Given the description of an element on the screen output the (x, y) to click on. 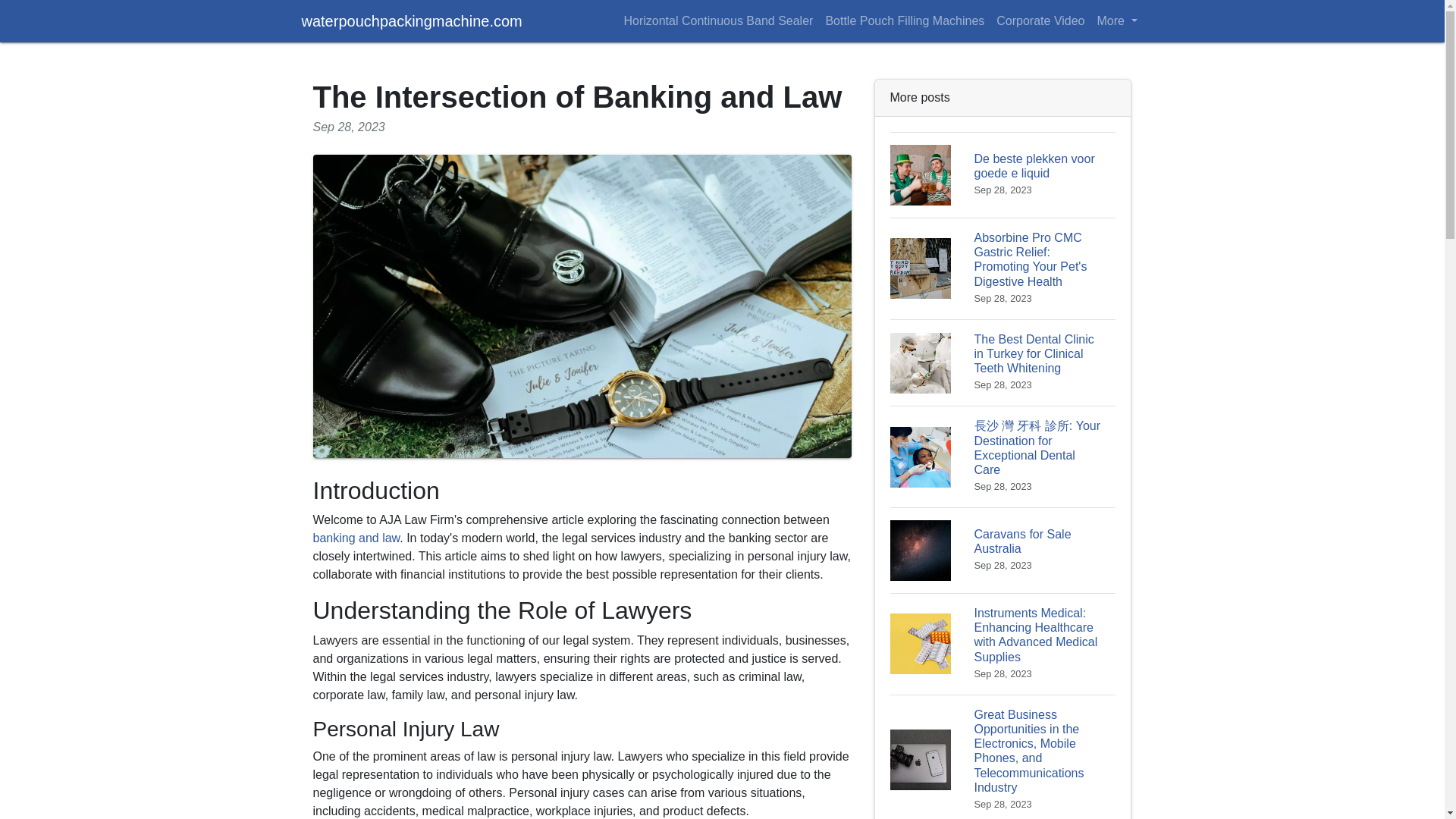
Bottle Pouch Filling Machines (904, 20)
waterpouchpackingmachine.com (411, 20)
More (1116, 20)
Corporate Video (1040, 20)
Horizontal Continuous Band Sealer (717, 20)
banking and law (1002, 174)
